Given the description of an element on the screen output the (x, y) to click on. 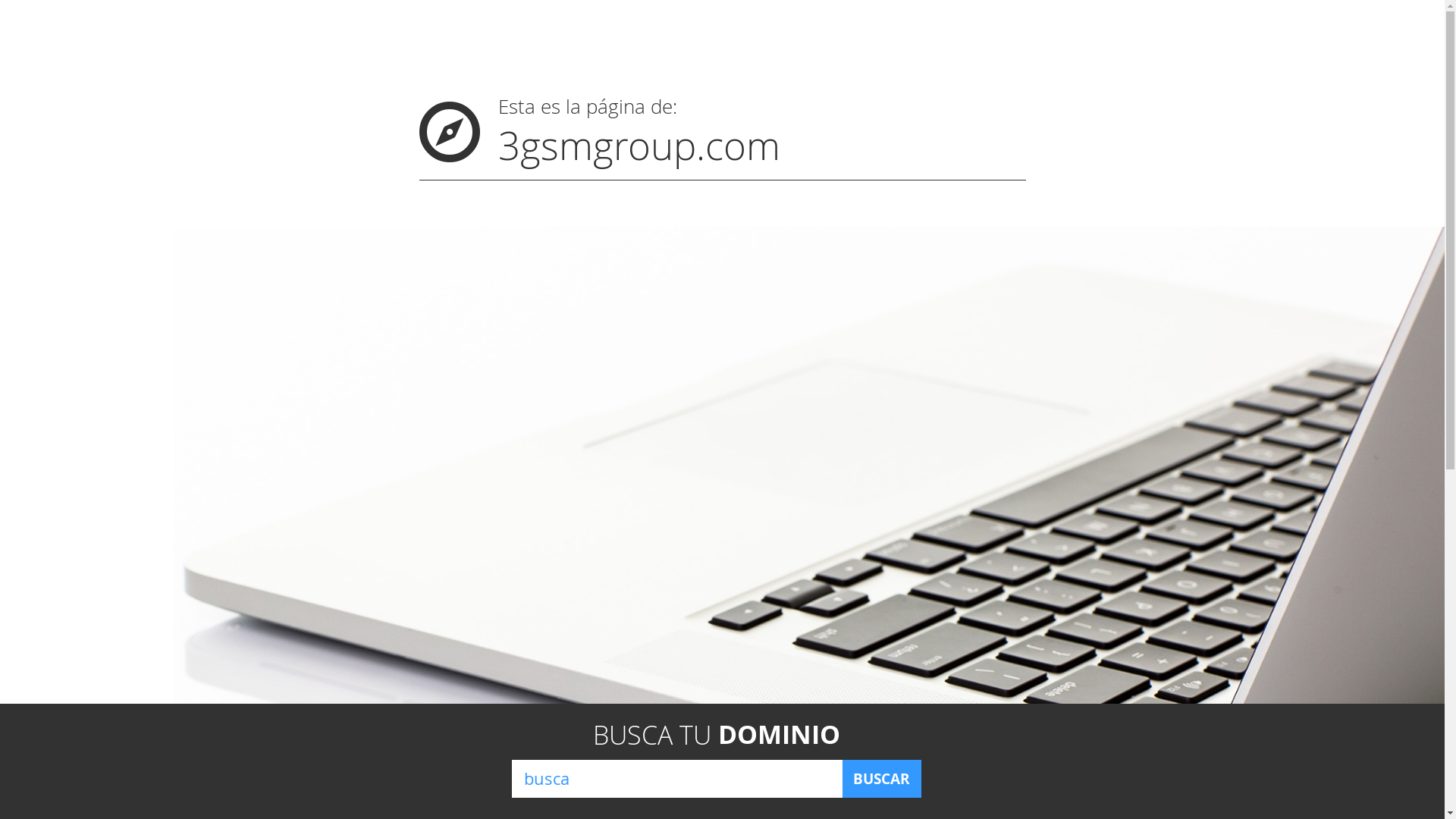
BUSCAR Element type: text (880, 778)
